Given the description of an element on the screen output the (x, y) to click on. 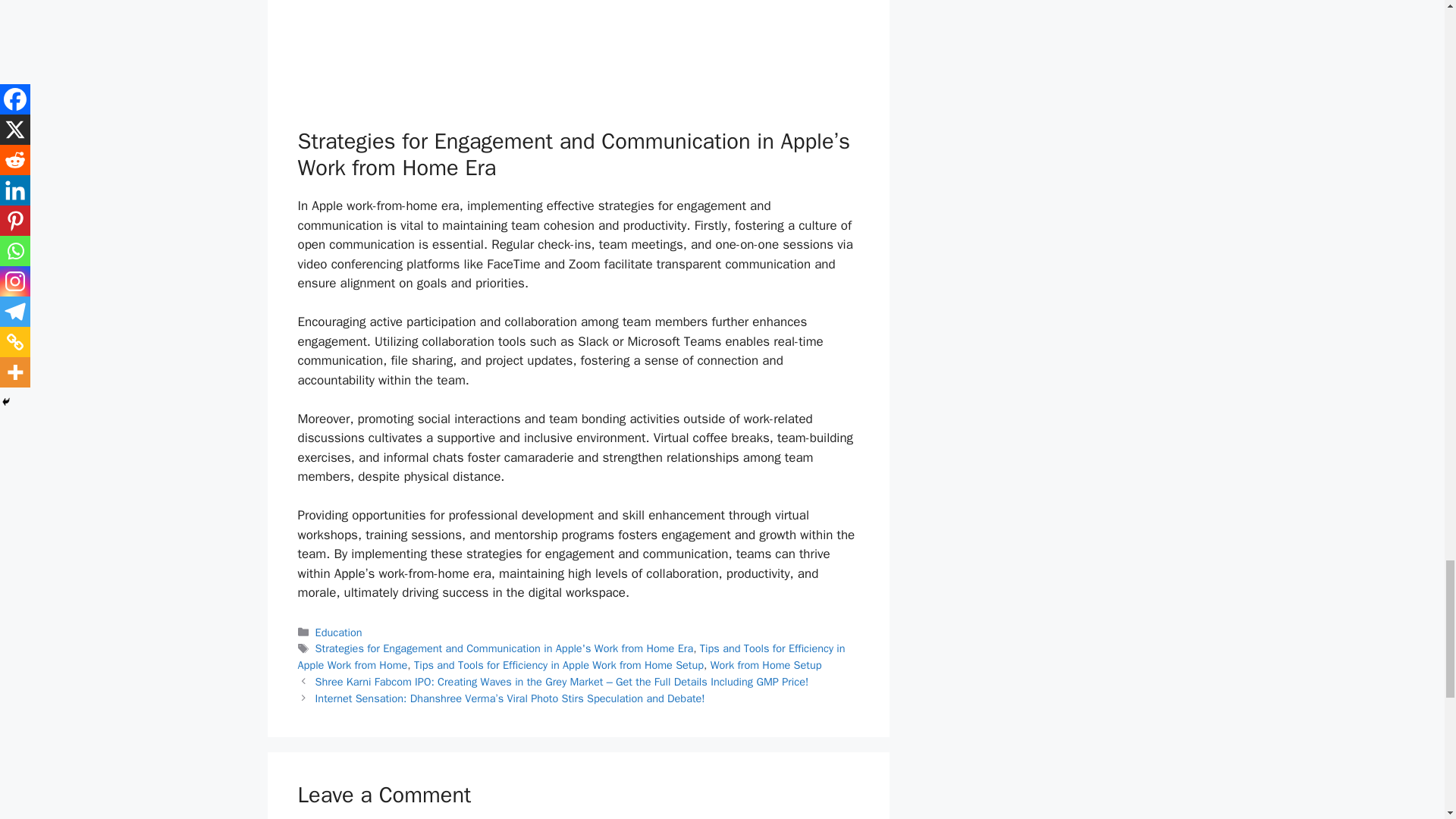
Tips and Tools for Efficiency in Apple Work from Home (570, 656)
Tips and Tools for Efficiency in Apple Work from Home Setup (558, 664)
Work from Home Setup (766, 664)
Education (338, 632)
